Given the description of an element on the screen output the (x, y) to click on. 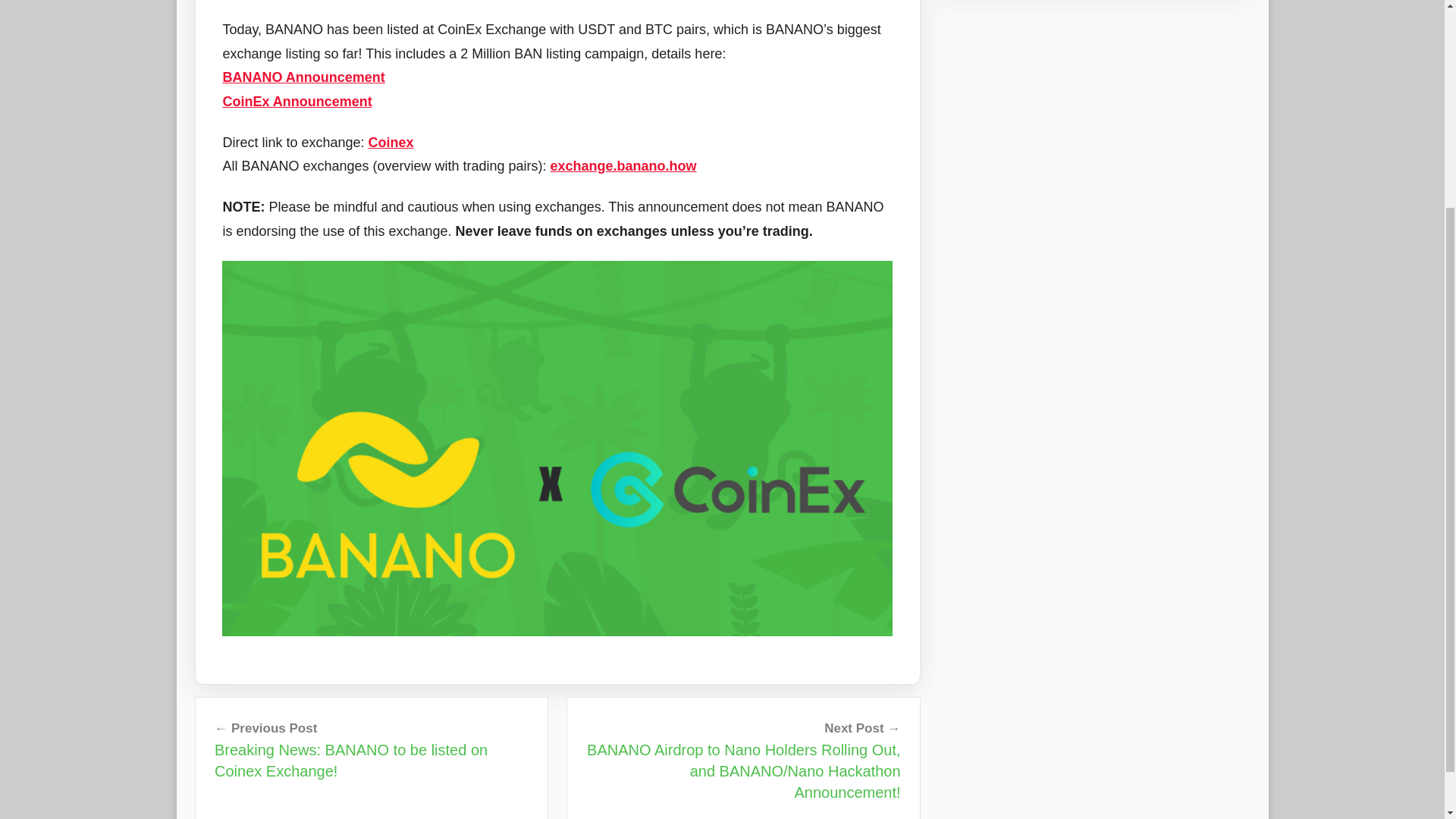
CoinEx Announcement (296, 101)
Coinex (390, 142)
exchange.banano.how (623, 165)
BANANO Announcement (303, 77)
